Given the description of an element on the screen output the (x, y) to click on. 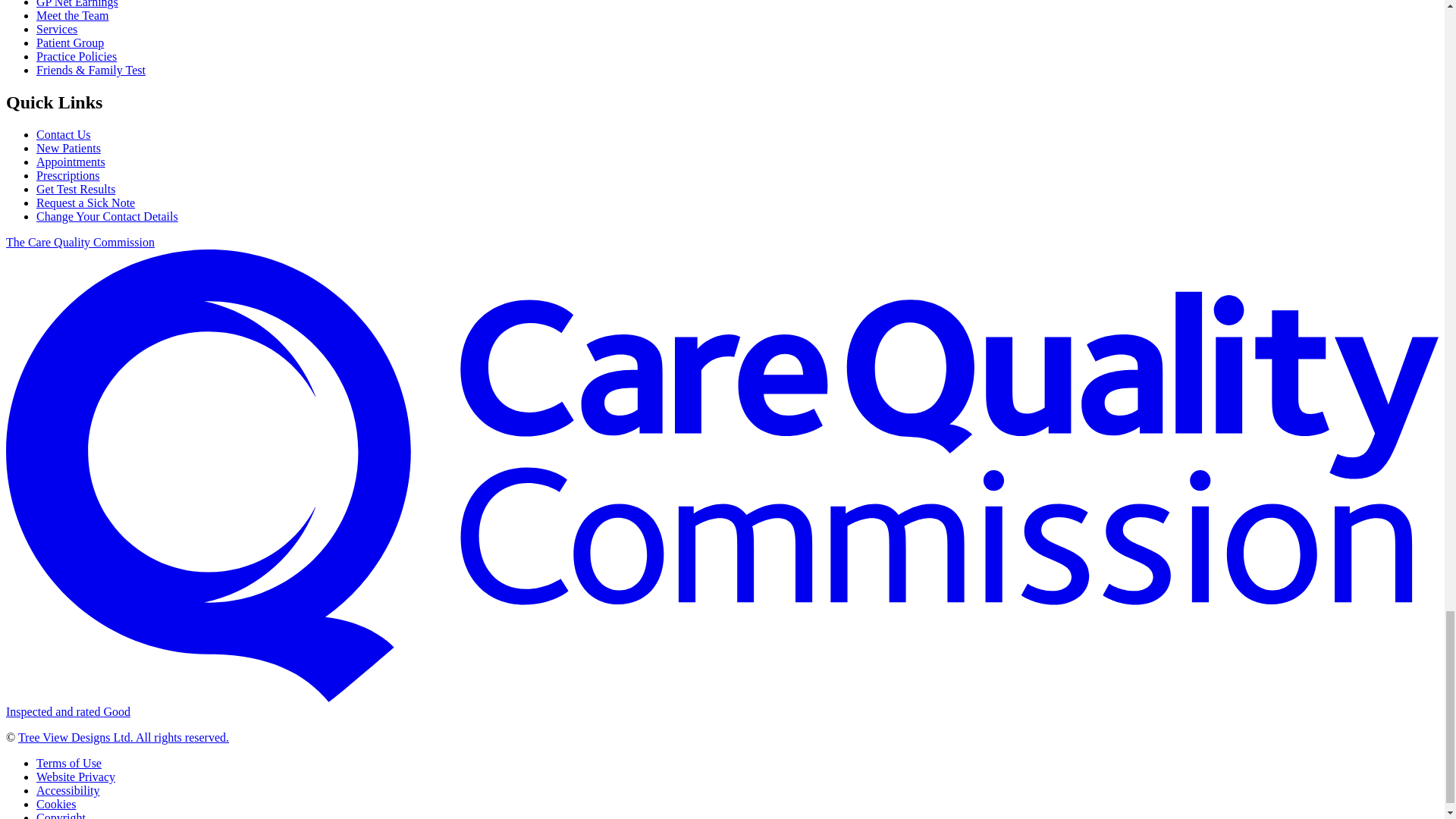
Website Privacy (75, 776)
Get Test Results (75, 188)
Services (56, 29)
Terms of Use (68, 762)
Cookies (55, 803)
GP Net Earnings (76, 4)
Contact Us (63, 133)
Patient Group (69, 42)
Meet the Team (71, 15)
New Patients (68, 147)
